Given the description of an element on the screen output the (x, y) to click on. 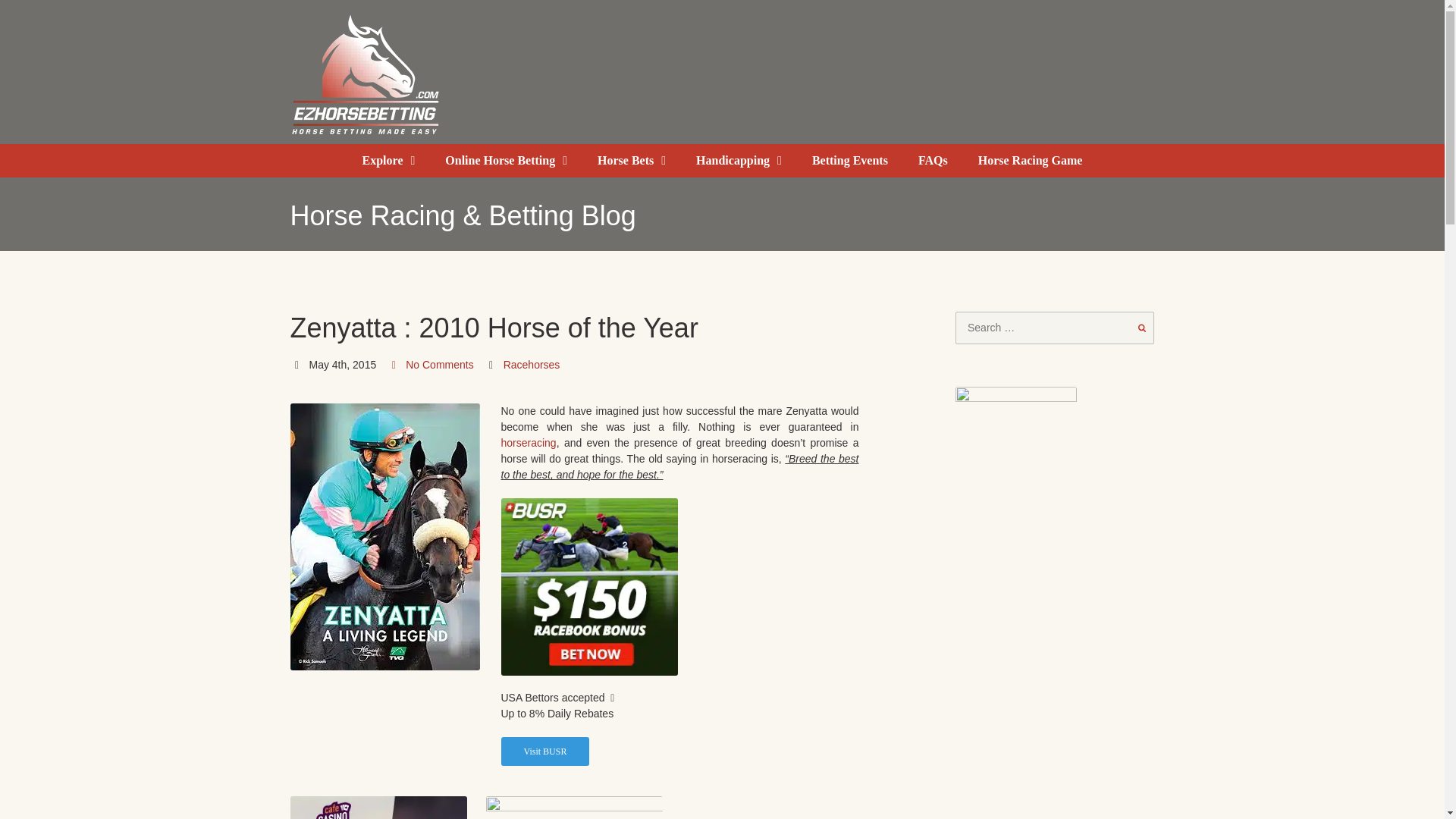
Online Horse Betting (506, 160)
Explore (388, 160)
